Given the description of an element on the screen output the (x, y) to click on. 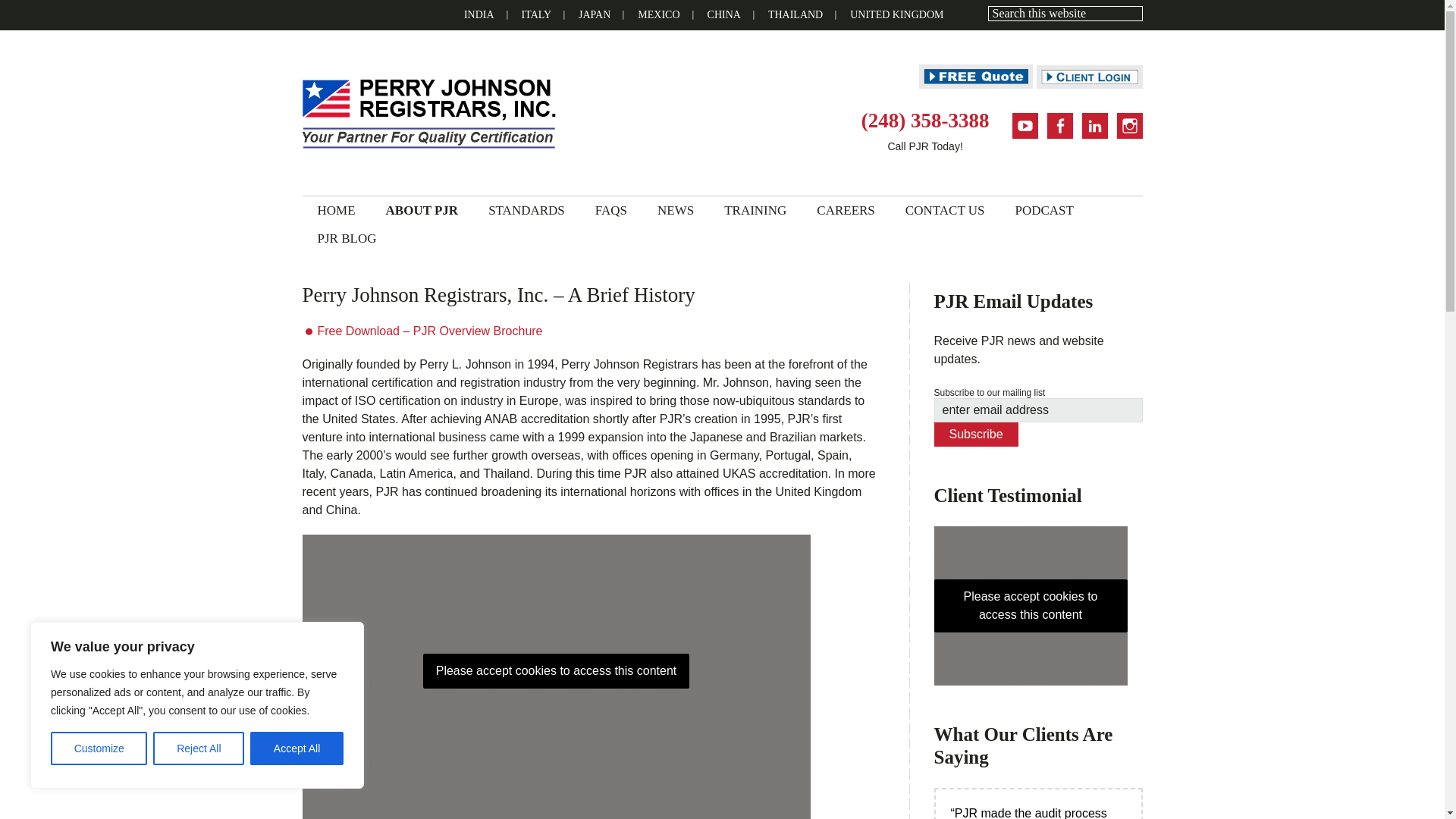
Youtube (1023, 125)
Client Login (1088, 77)
THAILAND (794, 14)
INDIA (478, 14)
Accept All (296, 748)
Customize (98, 748)
Instagram (1128, 125)
Facebook (1058, 125)
ITALY (536, 14)
Instagram (1128, 125)
UNITED KINGDOM (895, 14)
HOME (335, 210)
